Given the description of an element on the screen output the (x, y) to click on. 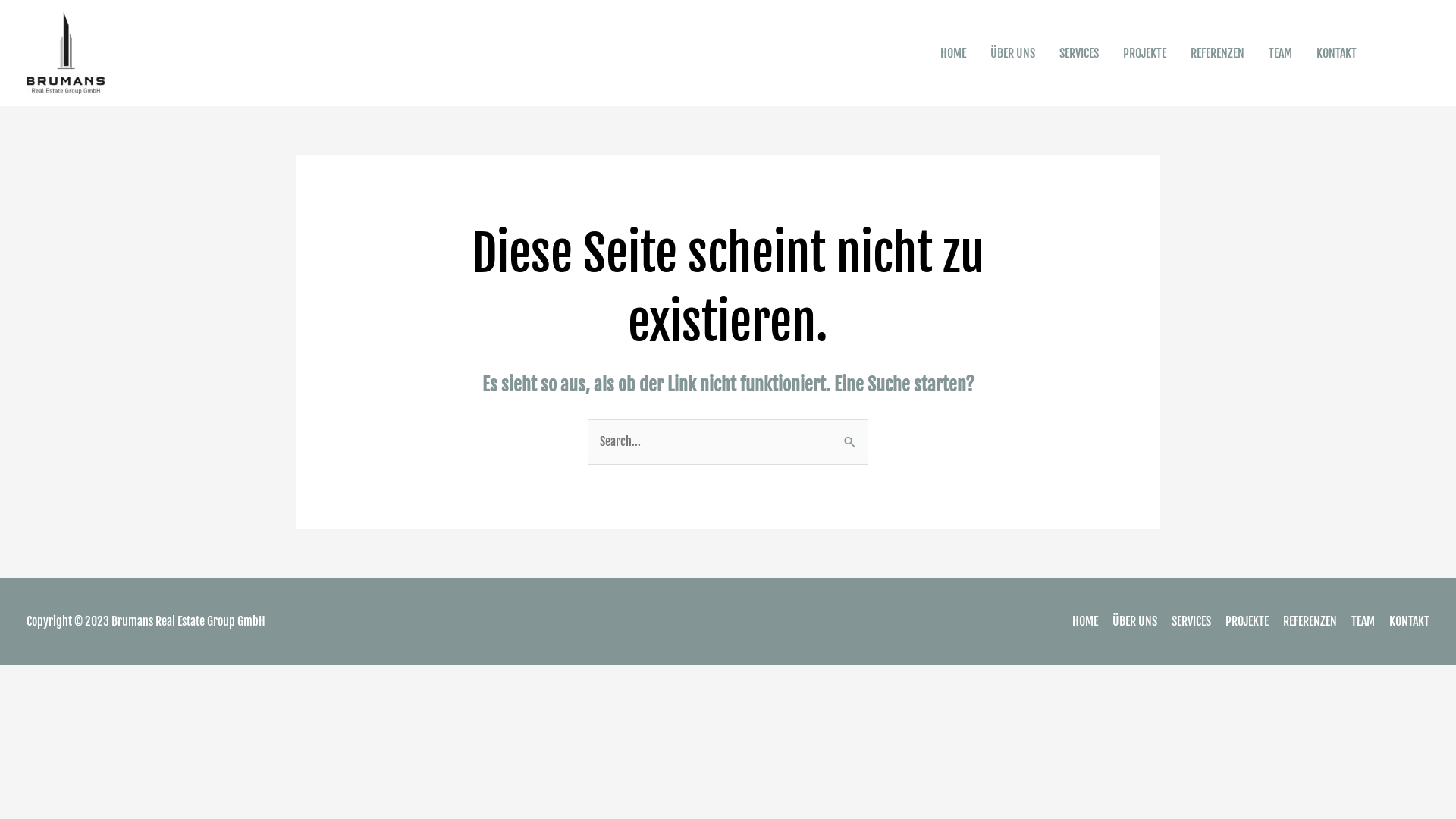
REFERENZEN Element type: text (1303, 620)
HOME Element type: text (953, 52)
KONTAKT Element type: text (1403, 620)
HOME Element type: text (1079, 620)
KONTAKT Element type: text (1336, 52)
REFERENZEN Element type: text (1217, 52)
SERVICES Element type: text (1078, 52)
TEAM Element type: text (1356, 620)
SERVICES Element type: text (1185, 620)
PROJEKTE Element type: text (1240, 620)
TEAM Element type: text (1280, 52)
Suche Element type: text (851, 440)
PROJEKTE Element type: text (1144, 52)
